Given the description of an element on the screen output the (x, y) to click on. 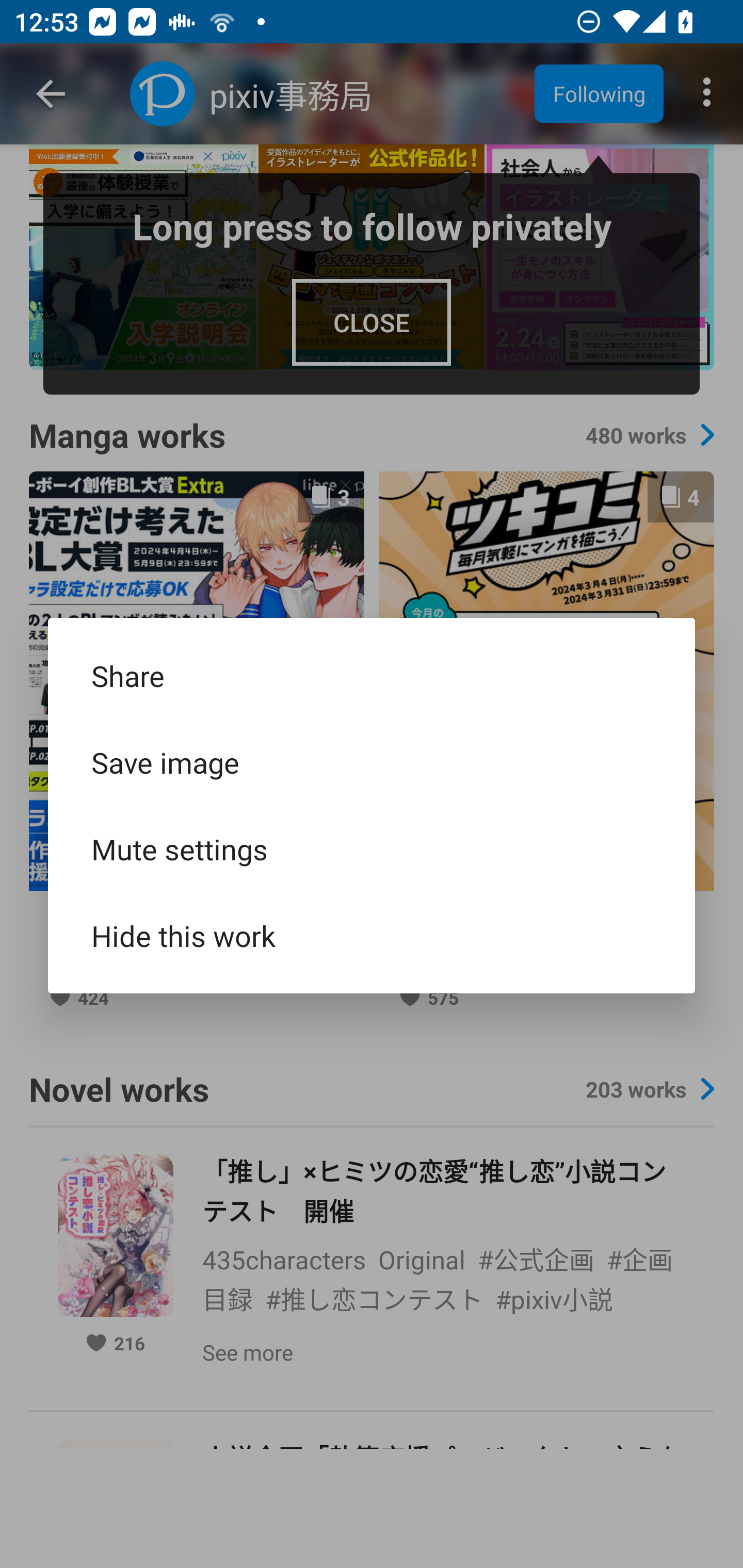
Share (371, 675)
Save image (371, 762)
Mute settings (371, 848)
Hide this work (371, 935)
